Given the description of an element on the screen output the (x, y) to click on. 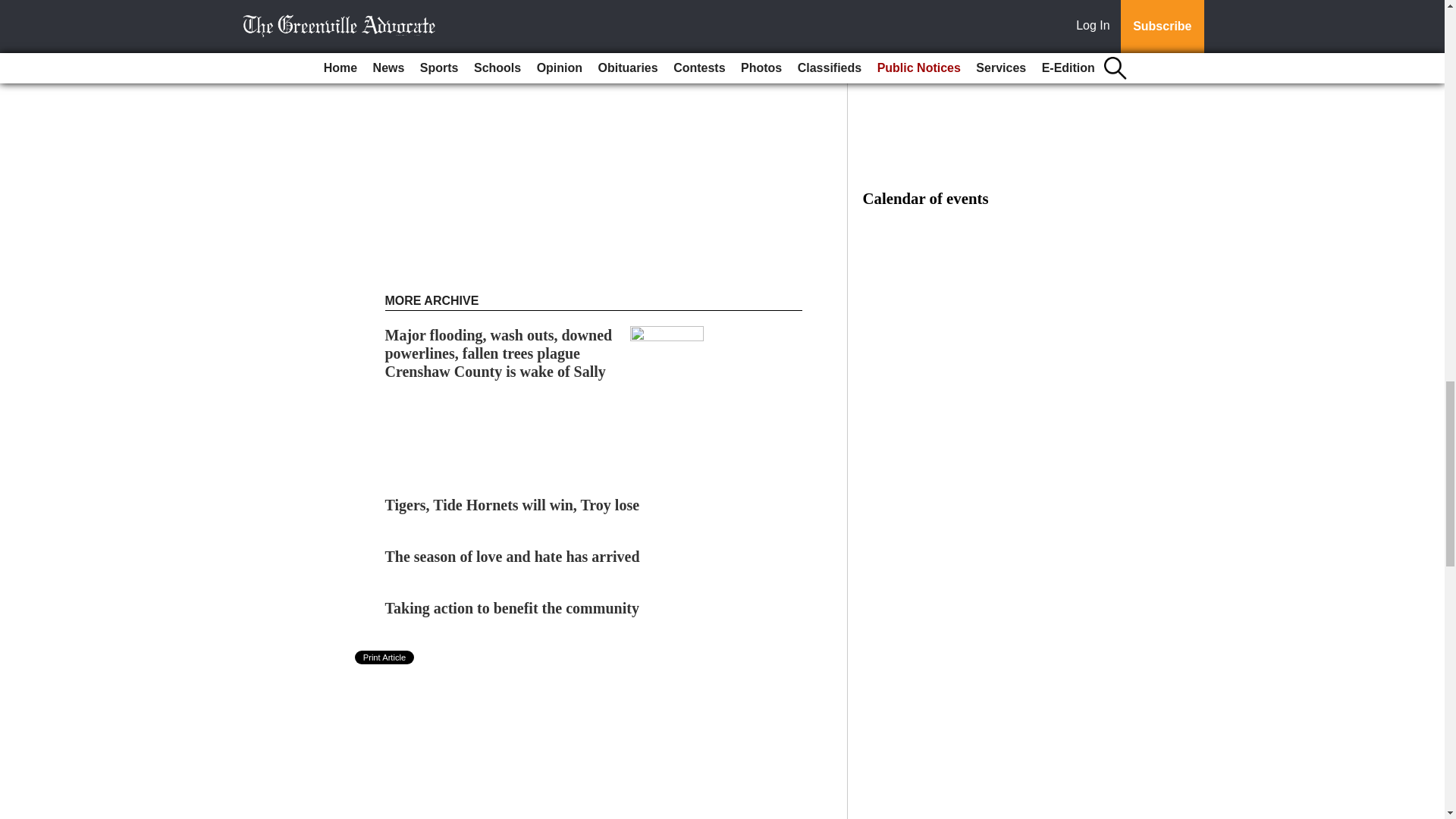
Print Article (384, 657)
Tigers, Tide Hornets will win, Troy lose (512, 504)
The season of love and hate has arrived (512, 556)
The season of love and hate has arrived (512, 556)
Tigers, Tide Hornets will win, Troy lose (512, 504)
Taking action to benefit the community (512, 607)
Taking action to benefit the community (512, 607)
